Given the description of an element on the screen output the (x, y) to click on. 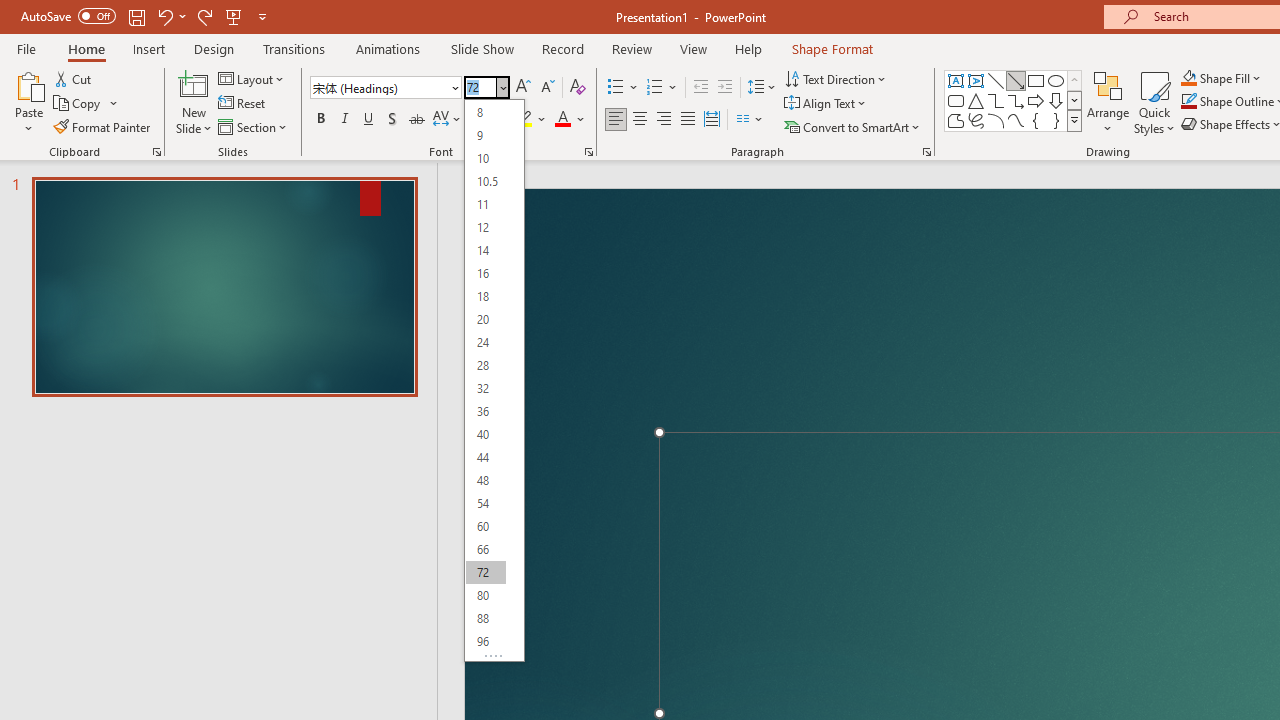
9 (485, 134)
